Given the description of an element on the screen output the (x, y) to click on. 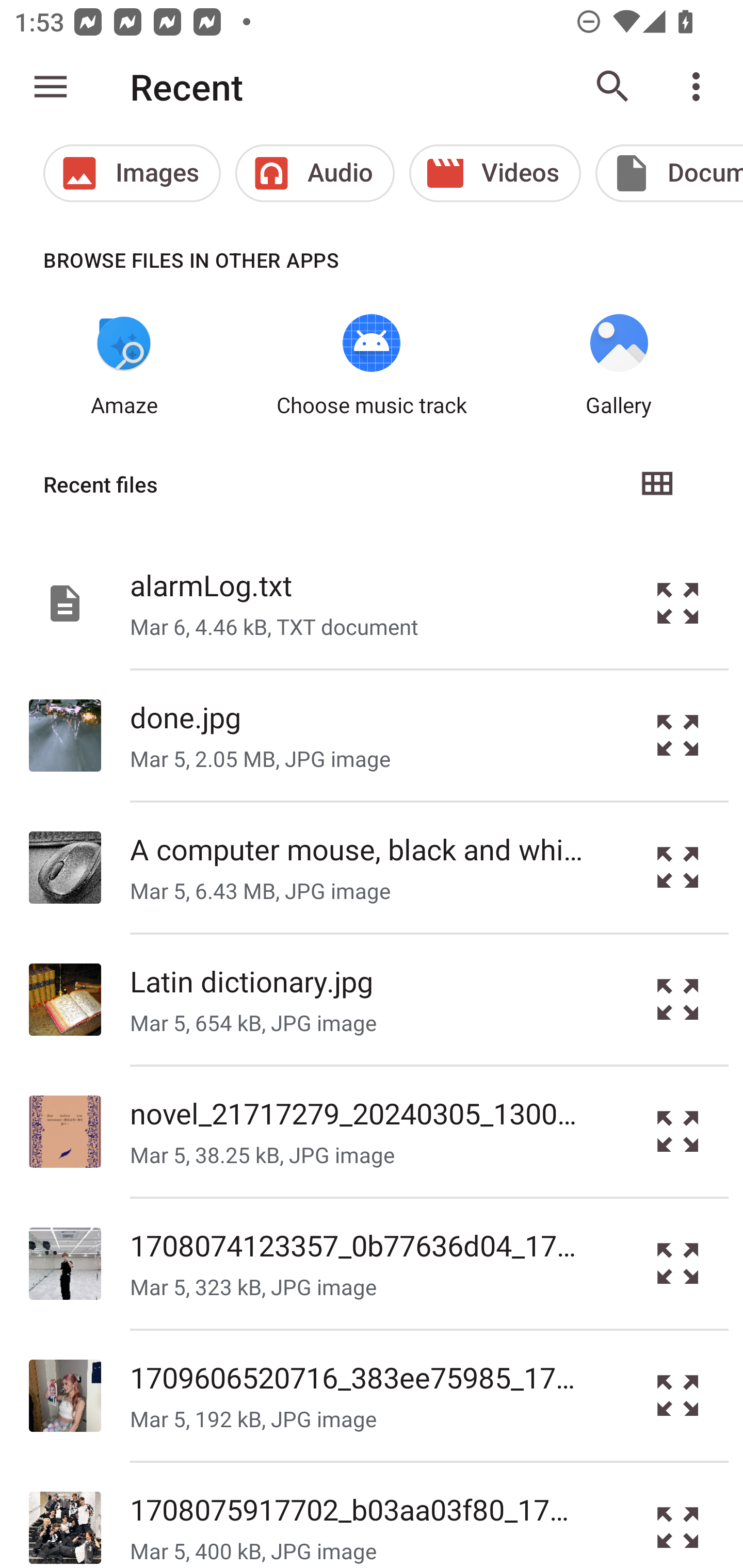
Show roots (50, 86)
Search (612, 86)
More options (699, 86)
Images (131, 173)
Audio (314, 173)
Videos (495, 173)
Documents (669, 173)
Amaze (123, 365)
Choose music track (371, 365)
Gallery (619, 365)
Grid view (655, 484)
Preview the file alarmLog.txt (677, 602)
Preview the file done.jpg (677, 736)
Preview the file Latin dictionary.jpg (677, 999)
